Given the description of an element on the screen output the (x, y) to click on. 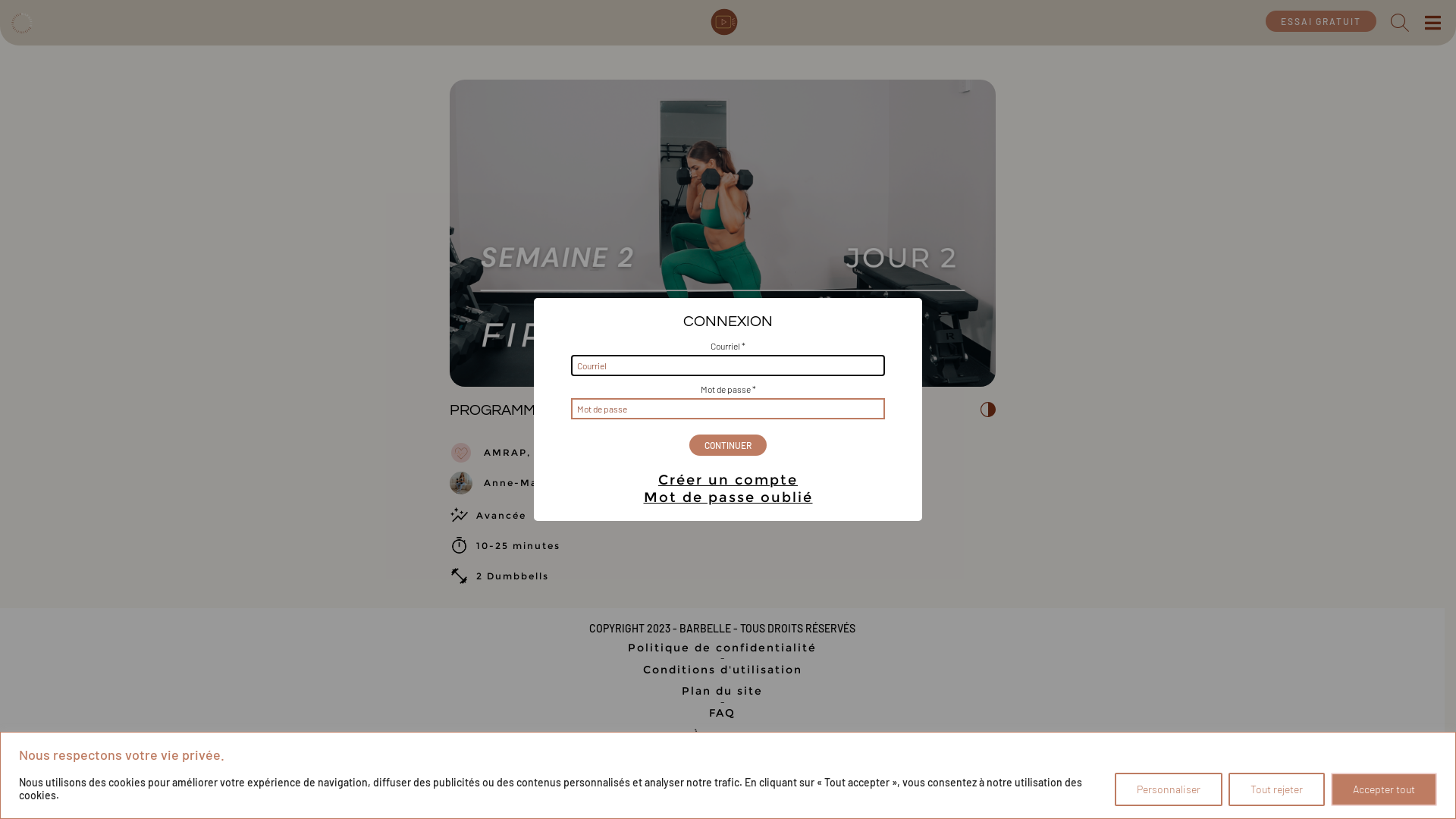
ESSAI GRATUIT Element type: text (1320, 20)
Je m'abonne ! Element type: text (801, 782)
Anne-Marie Element type: text (518, 482)
AMRAP, Element type: text (506, 452)
Personnaliser Element type: text (1168, 788)
Gagner en endurance, Element type: text (703, 452)
FAQ Element type: text (721, 712)
10-25 minutes Element type: text (518, 545)
Accepter tout Element type: text (1383, 788)
Gagner en force, Element type: text (583, 452)
Continuer Element type: text (727, 444)
2 Dumbbells Element type: text (512, 576)
Tout rejeter Element type: text (1276, 788)
Plan du site Element type: text (721, 690)
Conditions d'utilisation Element type: text (721, 669)
